Given the description of an element on the screen output the (x, y) to click on. 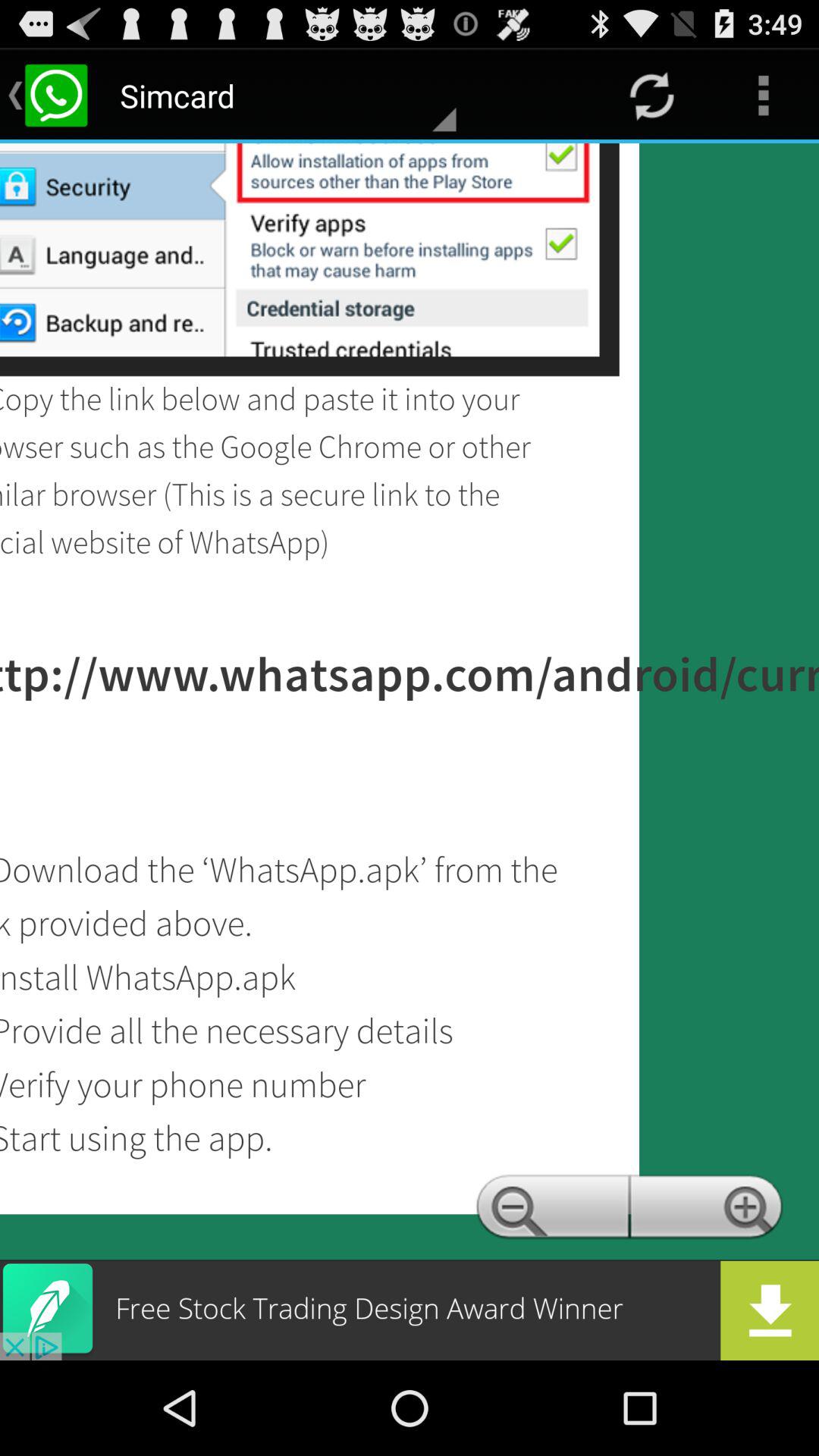
open advertisement (409, 1310)
